Given the description of an element on the screen output the (x, y) to click on. 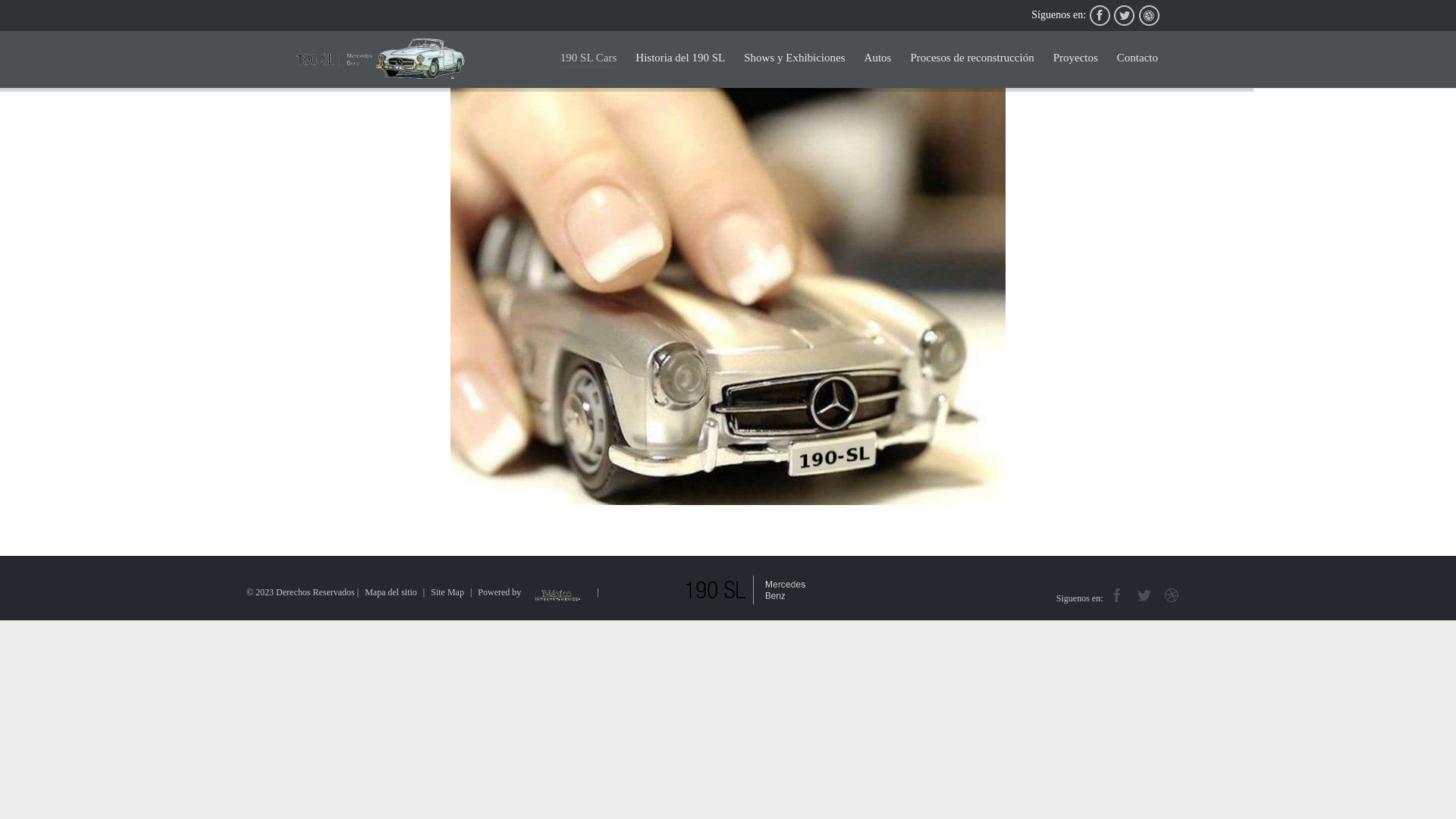
190 SL Cars Element type: text (588, 57)
Skip to content Element type: text (1168, 44)
Site Map Element type: text (447, 592)
Shows y Exhibiciones Element type: text (793, 59)
Mercedes Benz 190 SL Element type: hover (380, 59)
Proyectos Element type: text (1075, 59)
Autos Element type: text (877, 59)
Contacto Element type: text (1137, 59)
Mapa del sitio Element type: text (390, 592)
Historia del 190 SL Element type: text (679, 59)
